Given the description of an element on the screen output the (x, y) to click on. 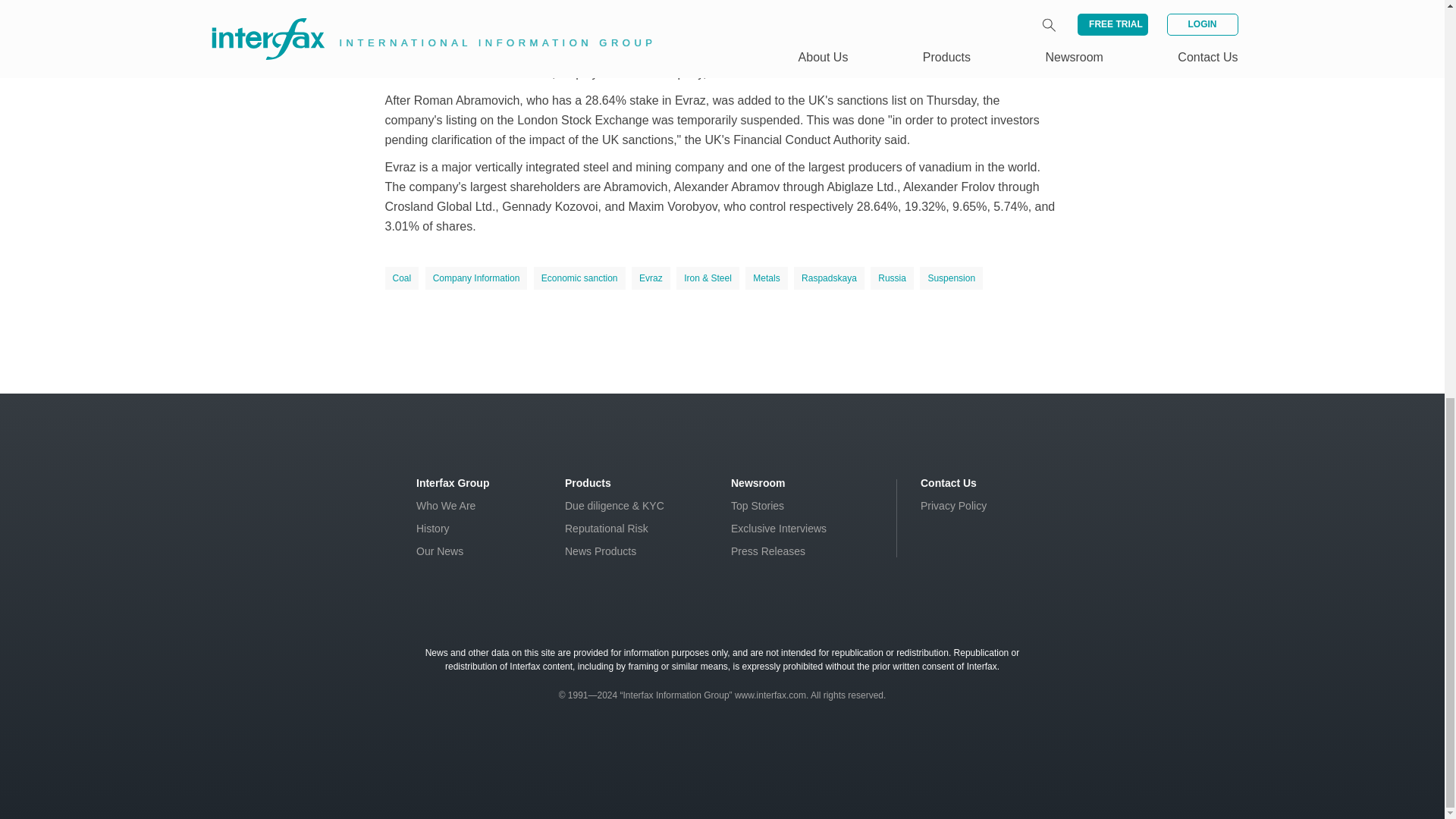
Economic sanction (580, 277)
Company Information (476, 277)
Evraz (650, 277)
Coal (402, 277)
